Given the description of an element on the screen output the (x, y) to click on. 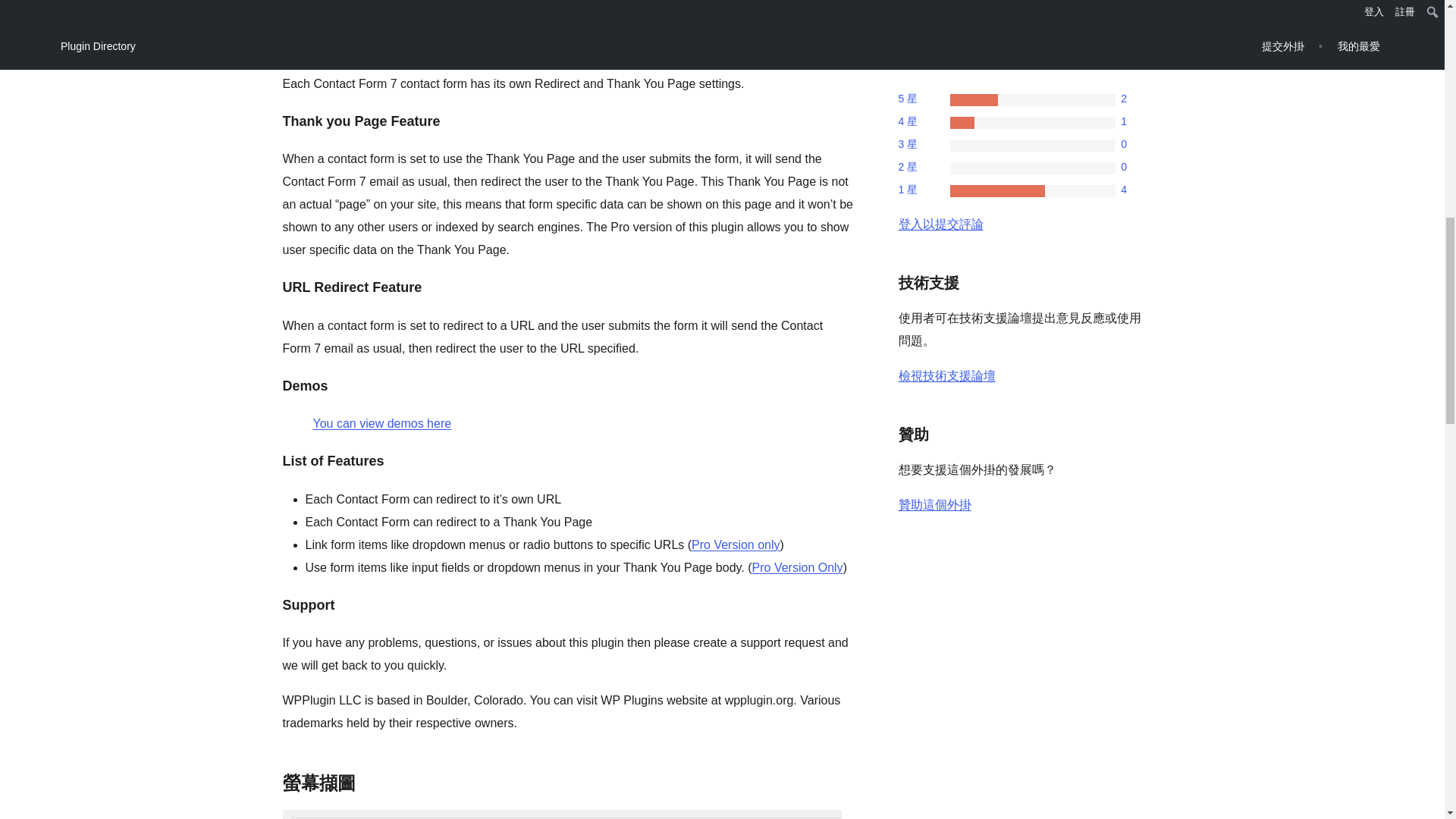
Pro Version only (735, 544)
Pro Version Only (797, 567)
You can view demos here (382, 422)
